Given the description of an element on the screen output the (x, y) to click on. 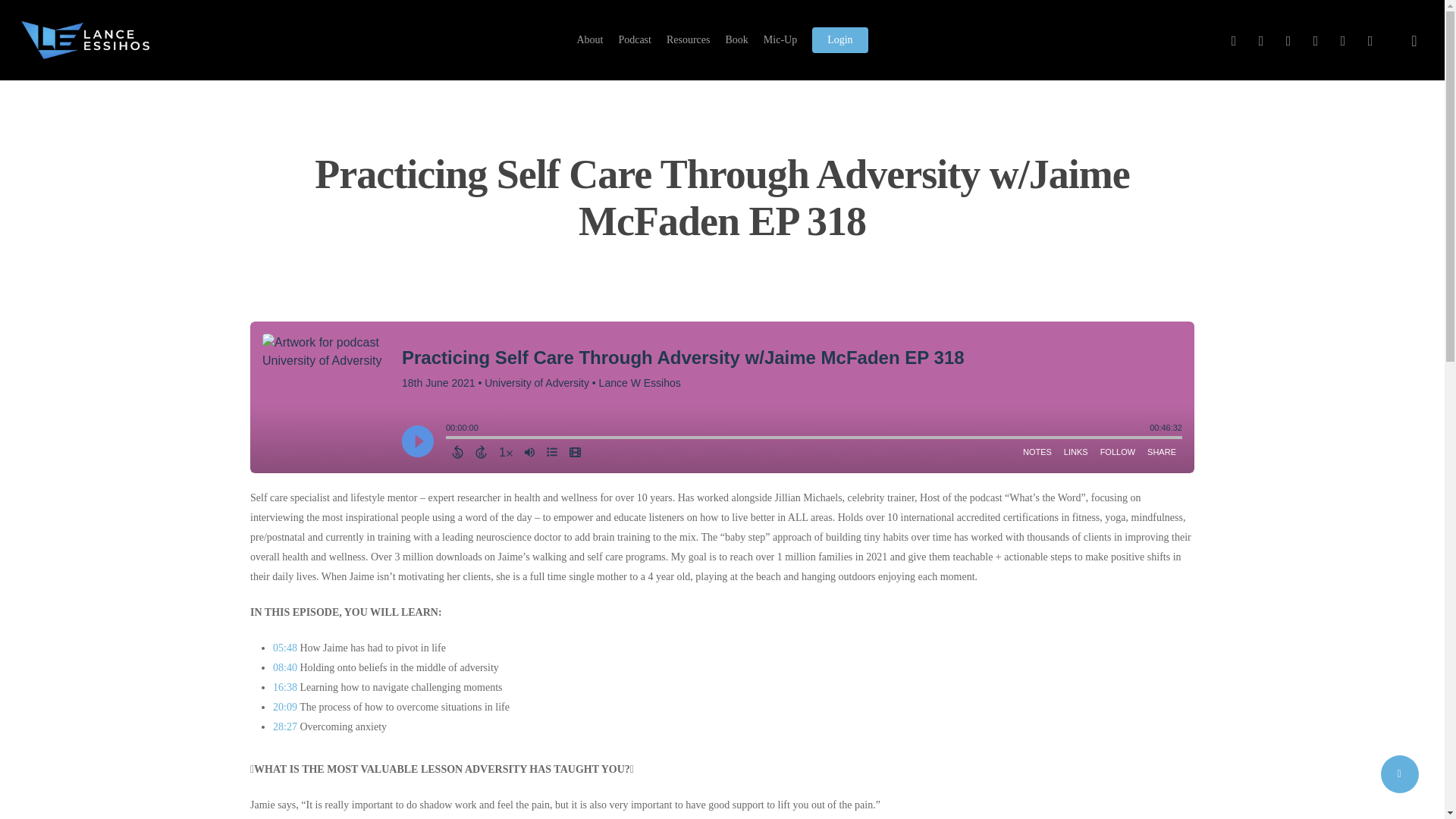
Mic-Up (779, 39)
16:38 (285, 686)
08:40 (285, 667)
05:48 (285, 647)
20:09 (285, 706)
Podcast (633, 39)
Book (736, 39)
Login (839, 39)
Resources (688, 39)
28:27 (285, 726)
